Given the description of an element on the screen output the (x, y) to click on. 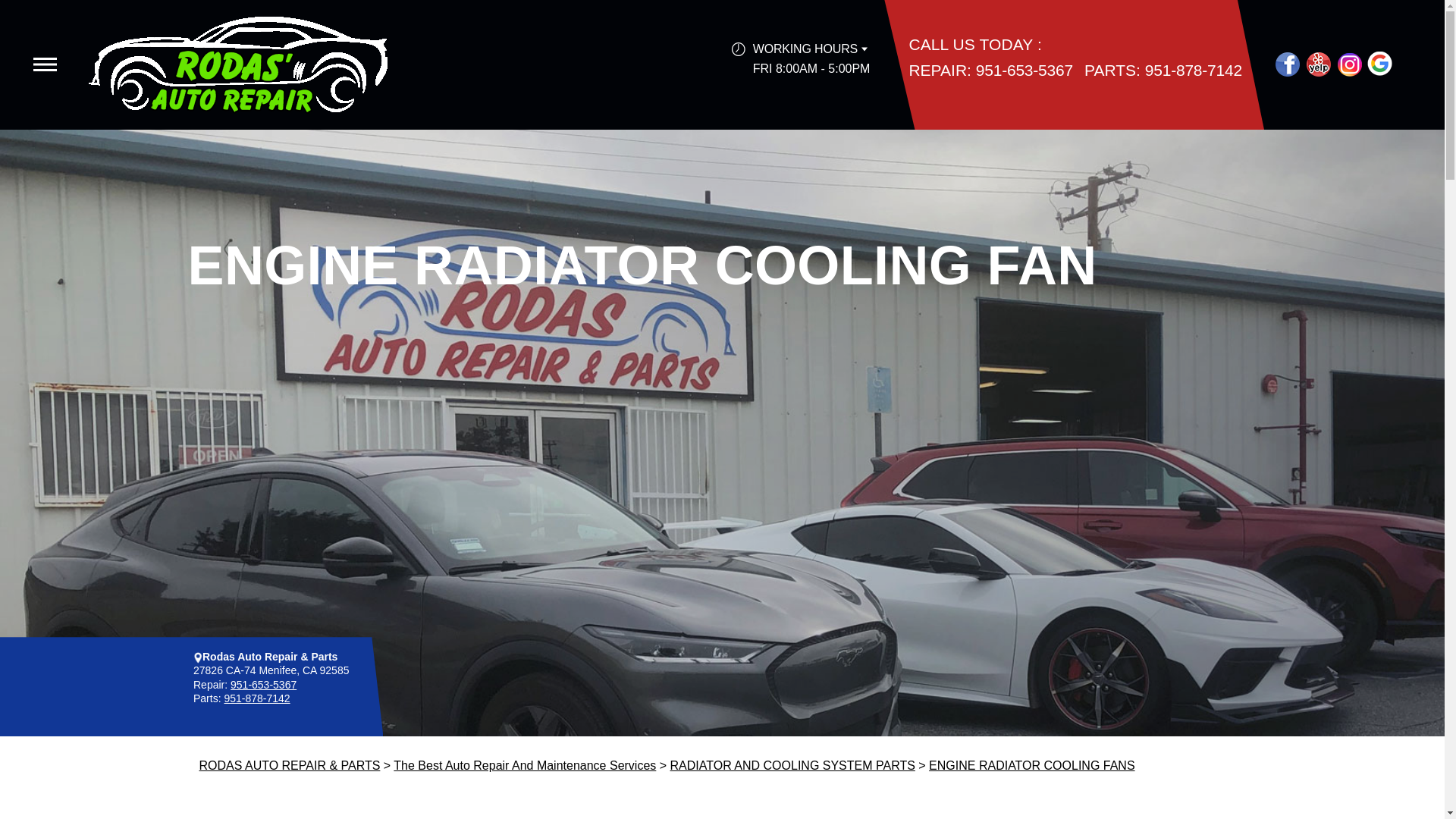
951-653-5367 (1024, 68)
951-653-5367 (263, 684)
951-878-7142 (256, 698)
951-878-7142 (1192, 68)
open-navigation-button (44, 64)
